Given the description of an element on the screen output the (x, y) to click on. 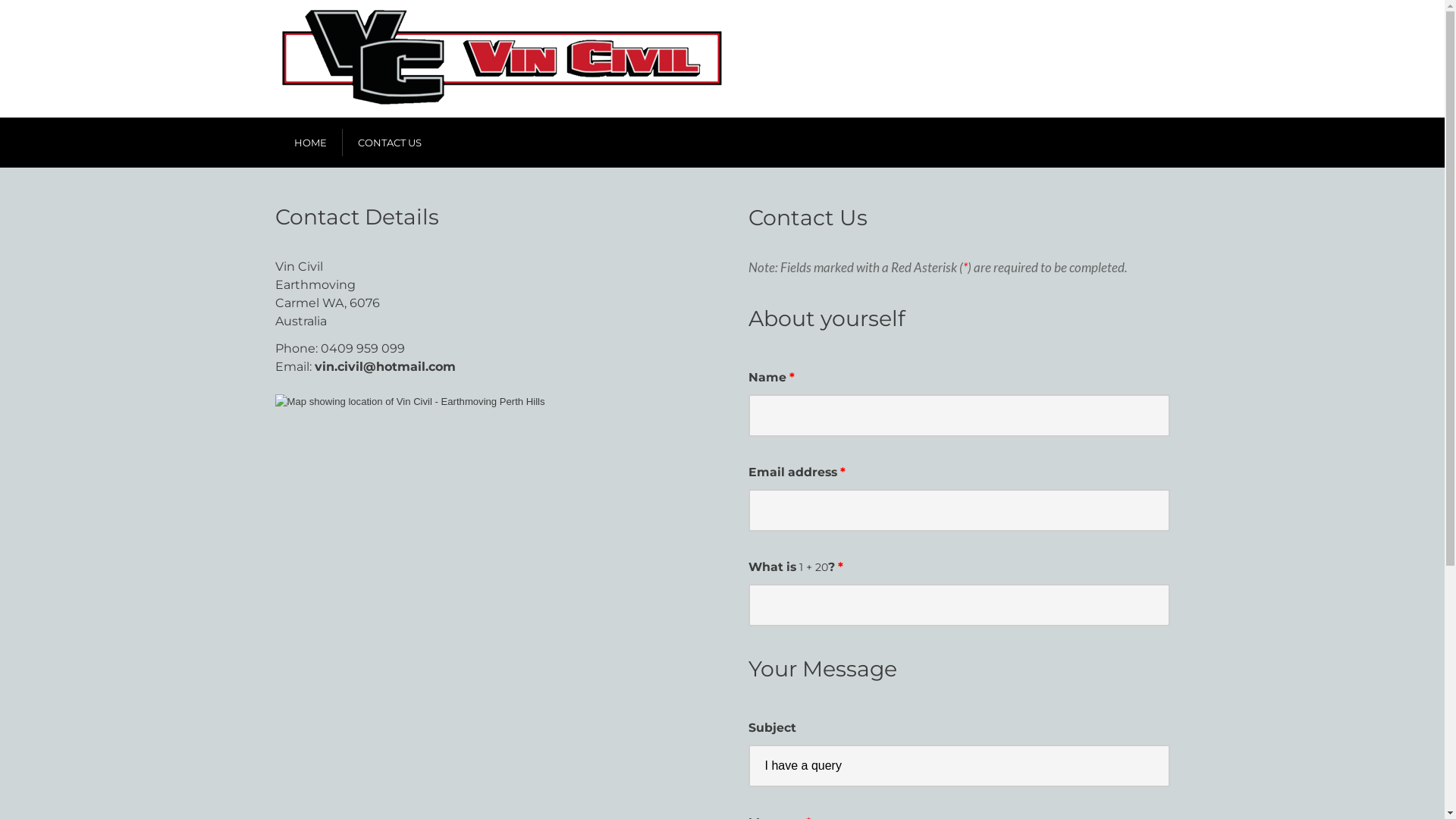
HOME Element type: text (310, 142)
CONTACT US Element type: text (389, 142)
vin.civil@hotmail.com Element type: text (384, 366)
